Given the description of an element on the screen output the (x, y) to click on. 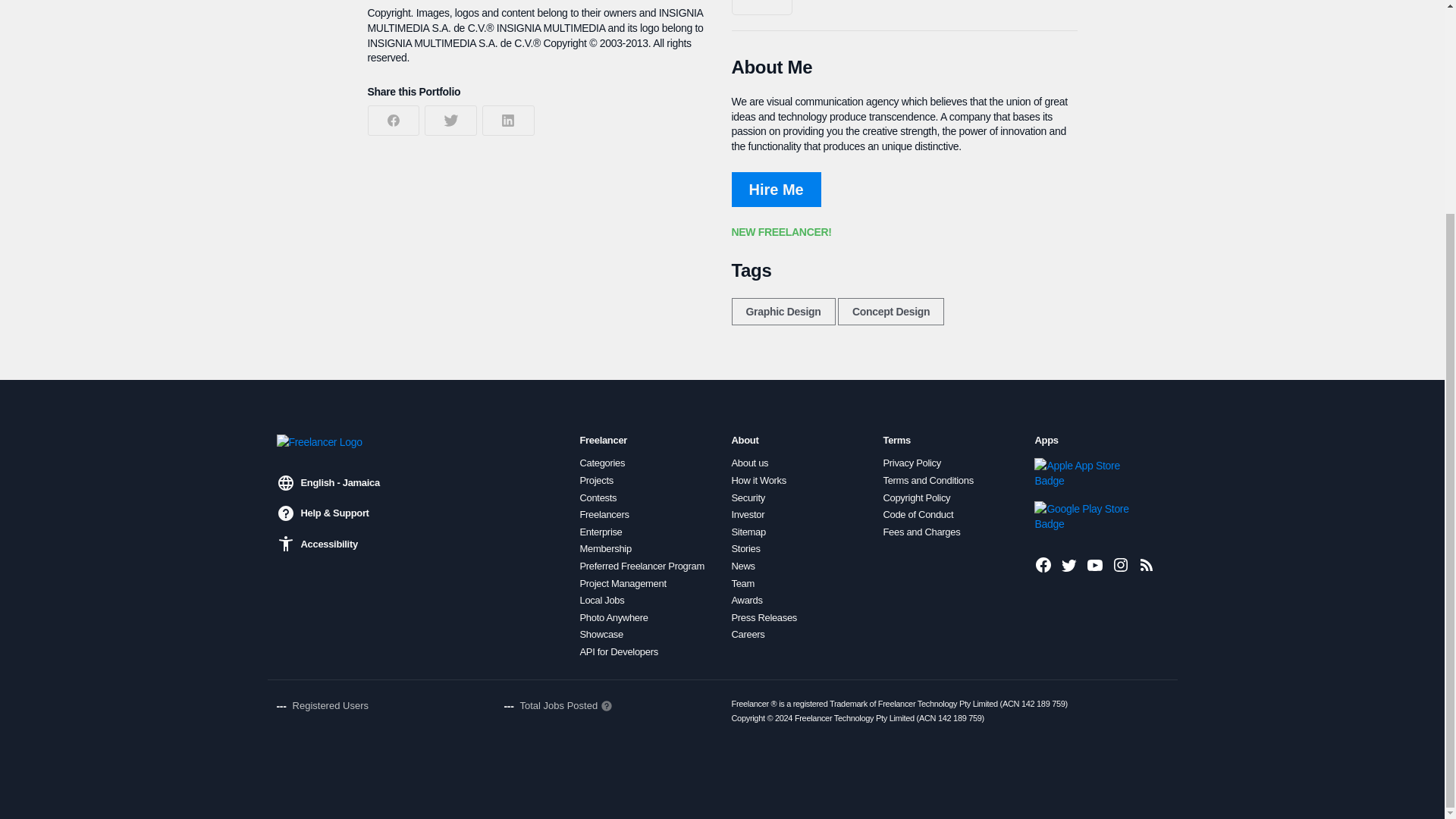
Freelancer on Youtube (1094, 565)
Photo Anywhere (613, 617)
Awards (745, 600)
Membership (604, 548)
Security (747, 498)
Freelancer on Facebook (1042, 565)
Share on LinkedIn (507, 120)
Press Releases (763, 617)
Local Jobs (601, 600)
Share on Twitter (450, 120)
